Given the description of an element on the screen output the (x, y) to click on. 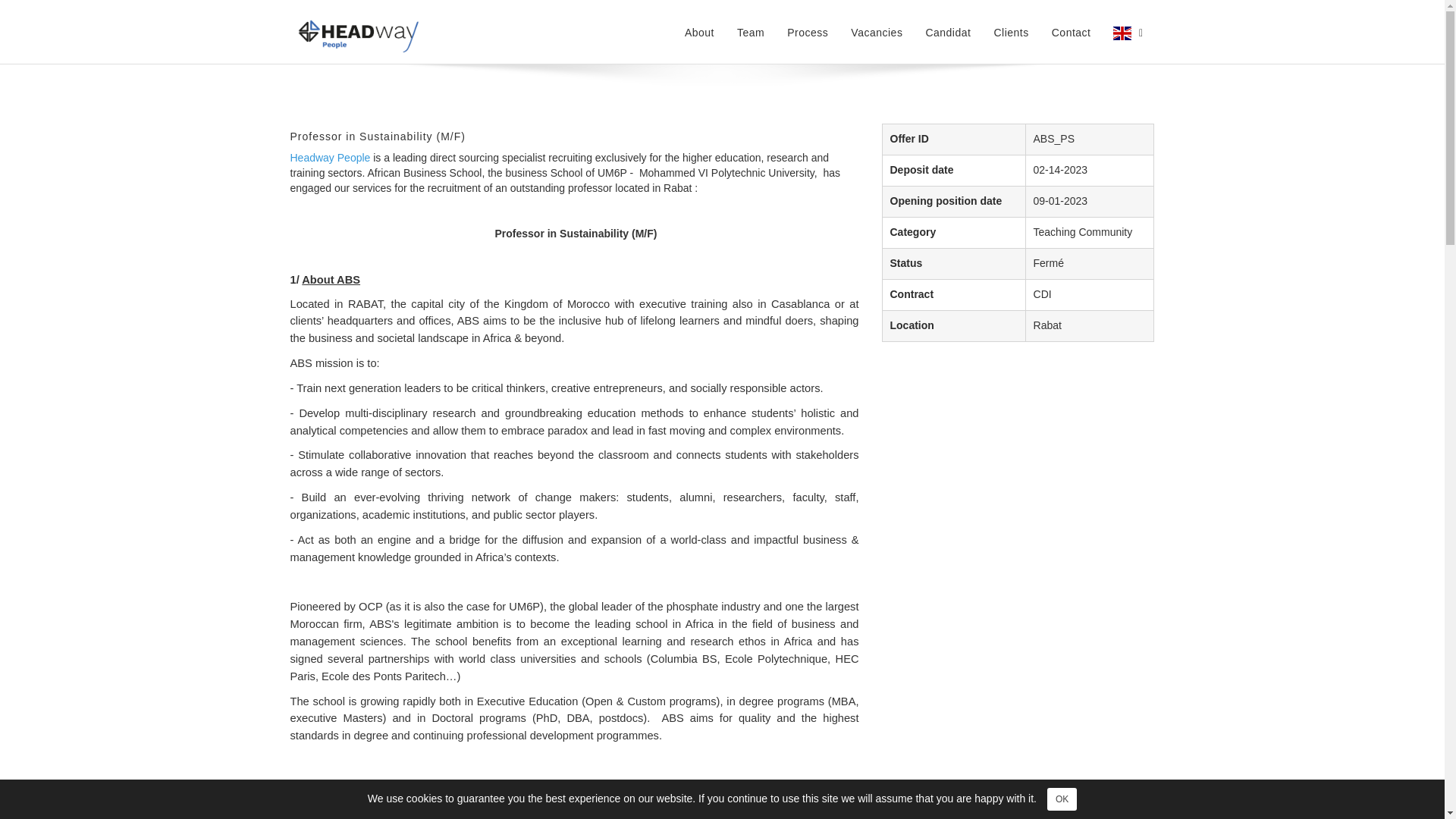
OK (1061, 798)
Candidat (947, 31)
Contact (1071, 31)
Process (808, 31)
Vacancies (877, 31)
Clients (1010, 31)
